Given the description of an element on the screen output the (x, y) to click on. 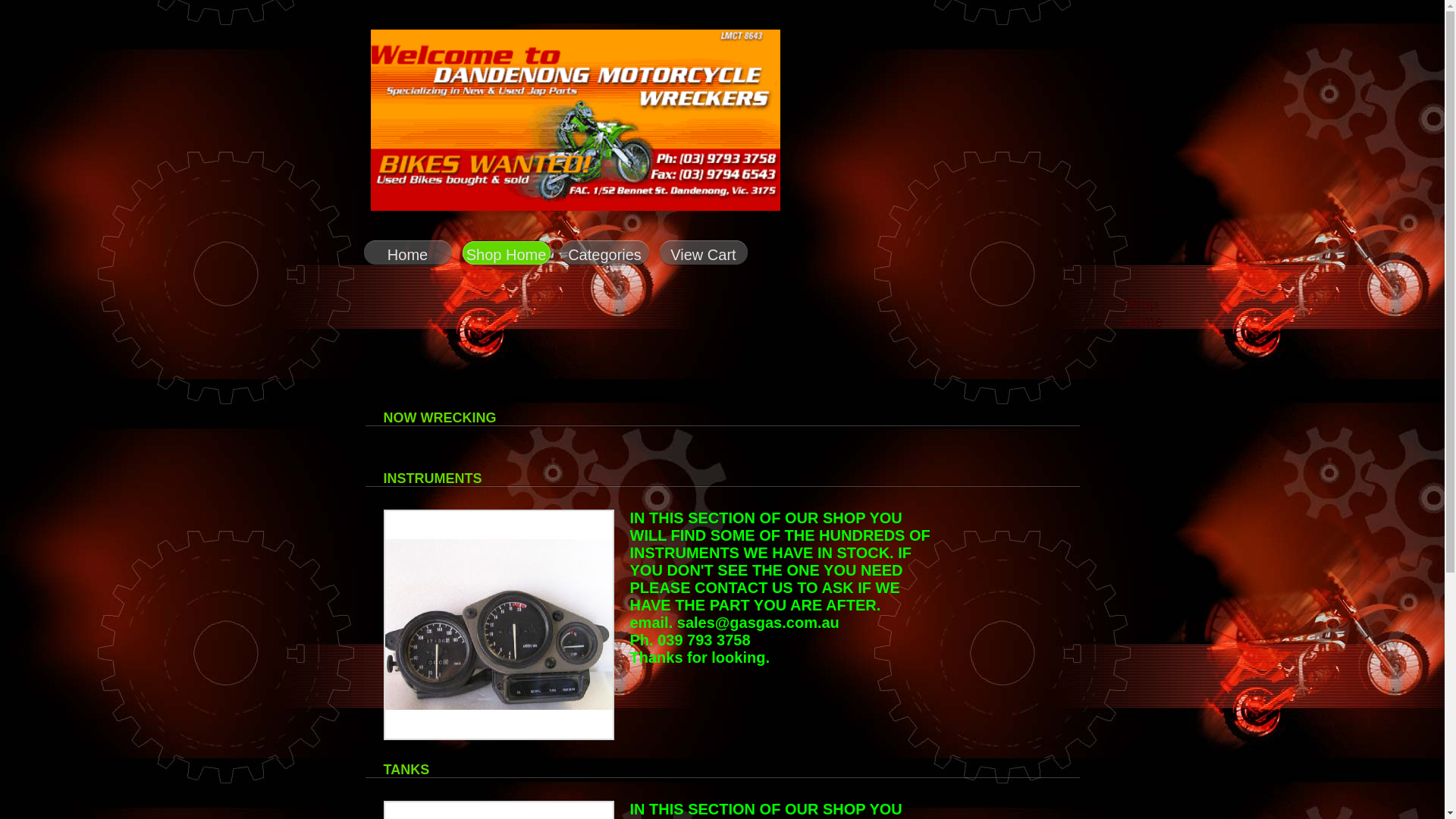
INSTRUMENTS Element type: text (432, 478)
TANKS Element type: text (406, 769)
Categories Element type: text (604, 255)
View Cart Element type: text (702, 255)
Home Element type: text (406, 255)
Shop Home Element type: text (505, 255)
NOW WRECKING Element type: text (439, 417)
